Given the description of an element on the screen output the (x, y) to click on. 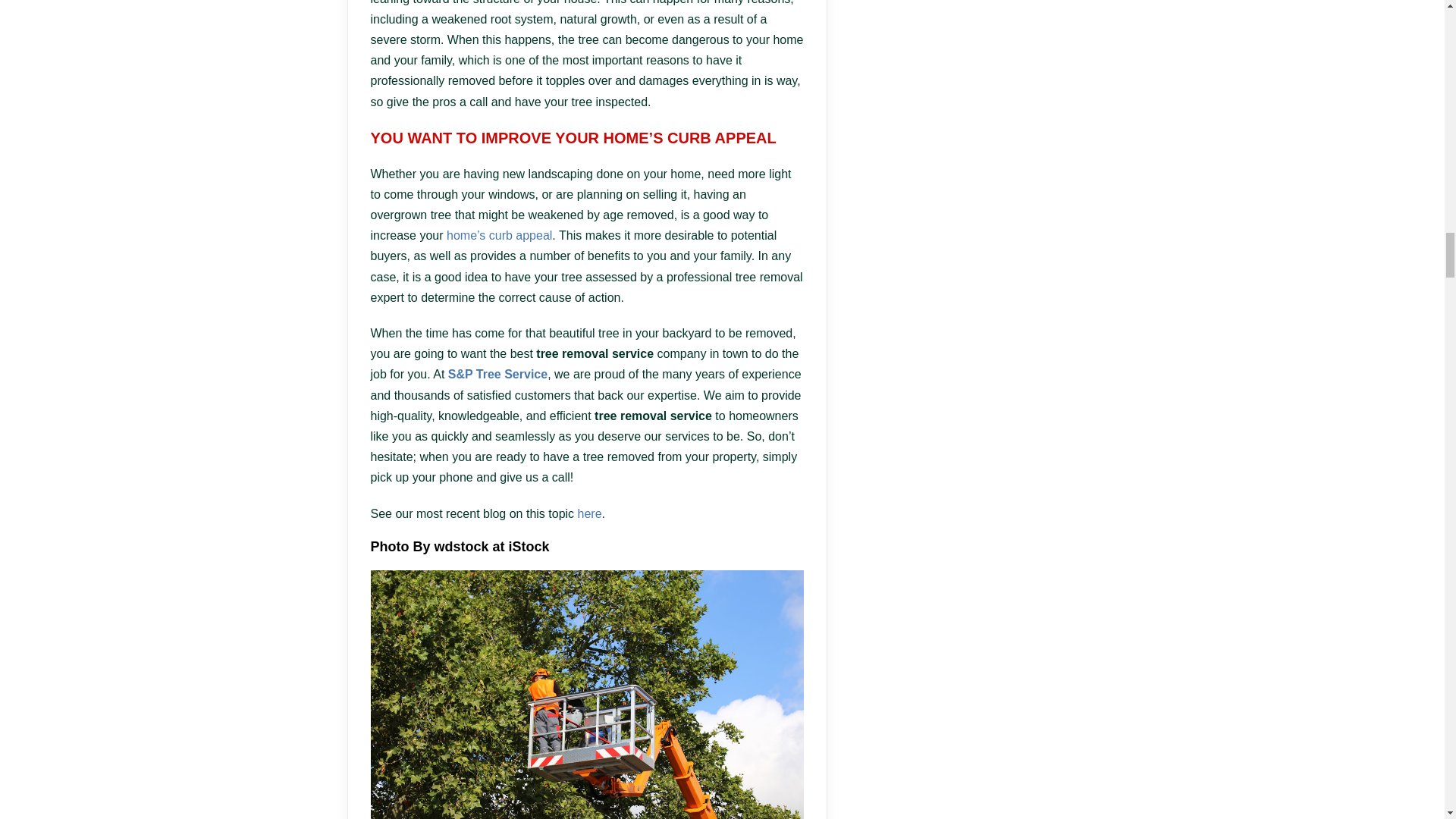
here (590, 513)
